Given the description of an element on the screen output the (x, y) to click on. 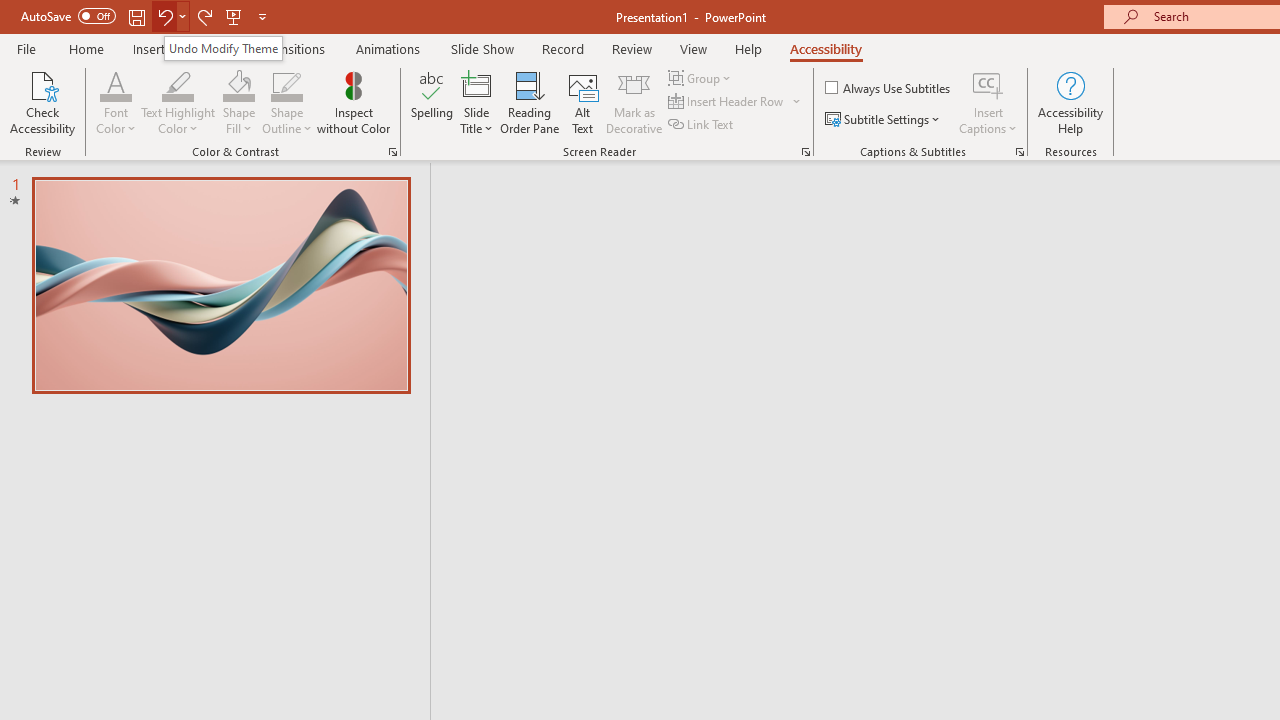
Group (701, 78)
Insert Captions (988, 102)
Screen Reader (805, 151)
Slide Title (476, 84)
Insert Header Row (735, 101)
Subtitle Settings (884, 119)
Slide Title (476, 102)
Mark as Decorative (634, 102)
